Given the description of an element on the screen output the (x, y) to click on. 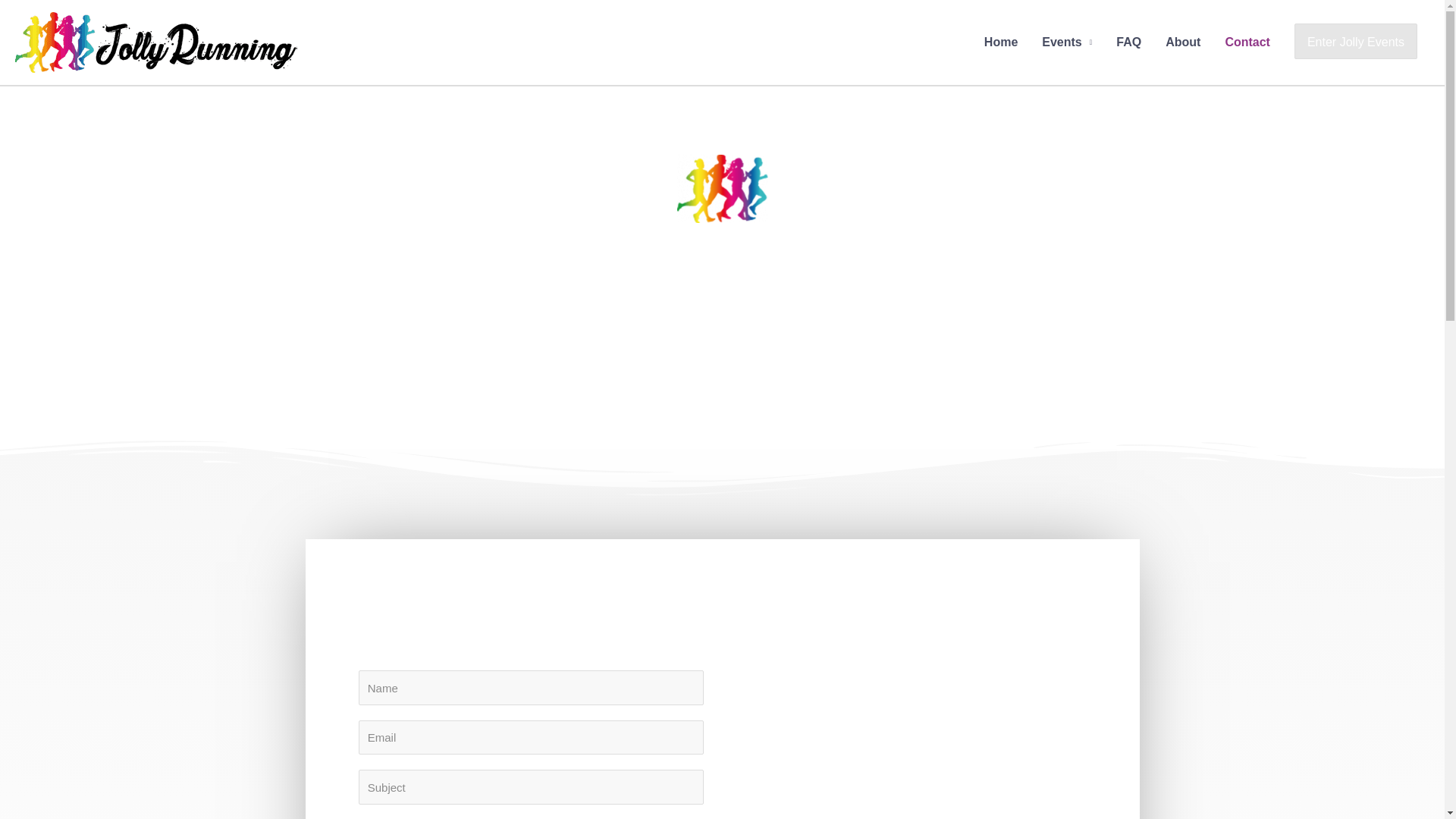
Events (1066, 42)
About (1182, 42)
FAQ (1128, 42)
runner-logo (722, 188)
Contact (1247, 42)
Enter Jolly Events (1355, 41)
Home (1000, 42)
Enter Jolly Events (1355, 42)
